Given the description of an element on the screen output the (x, y) to click on. 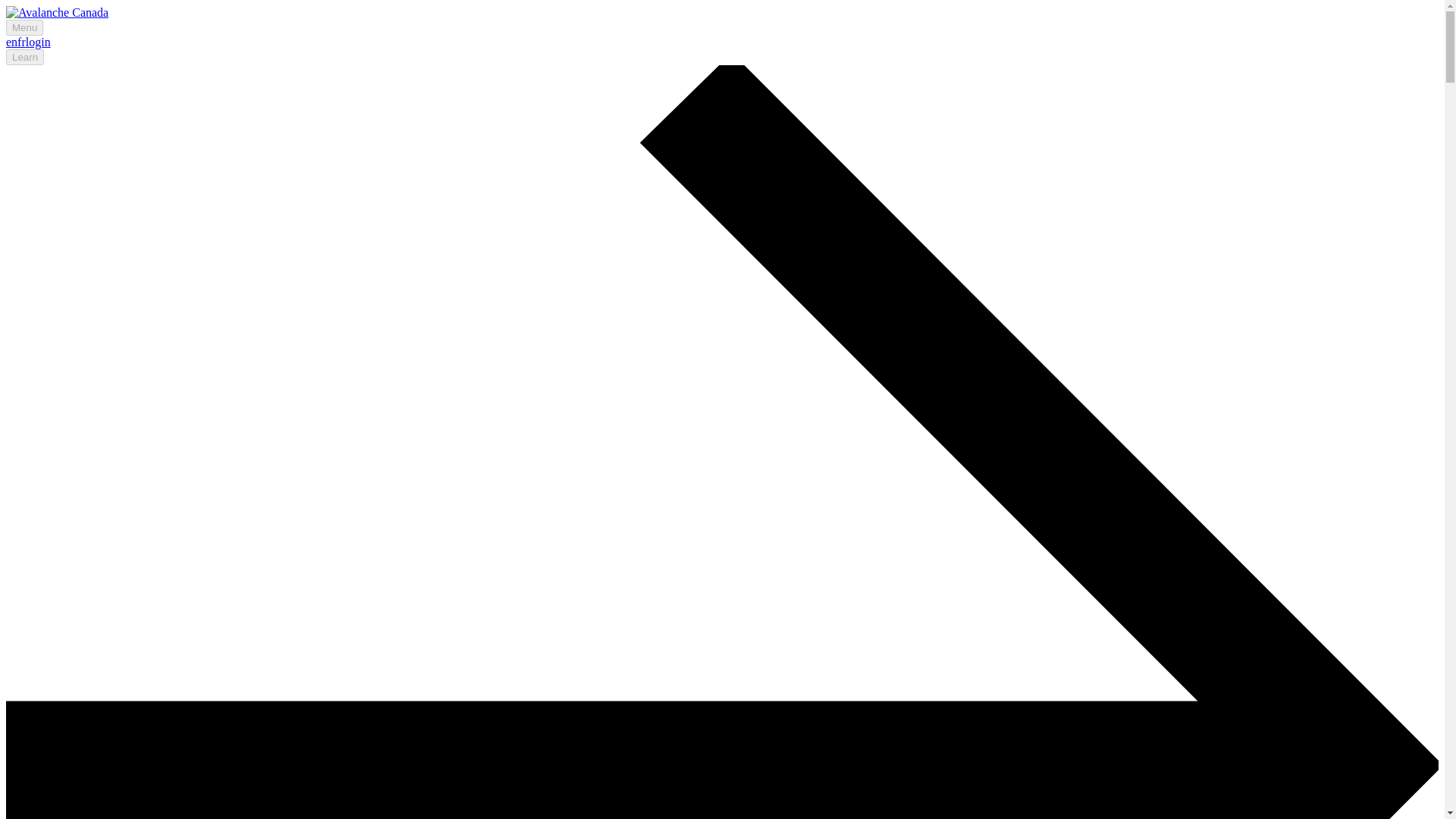
Learn (24, 57)
Menu (24, 27)
login (38, 42)
